Given the description of an element on the screen output the (x, y) to click on. 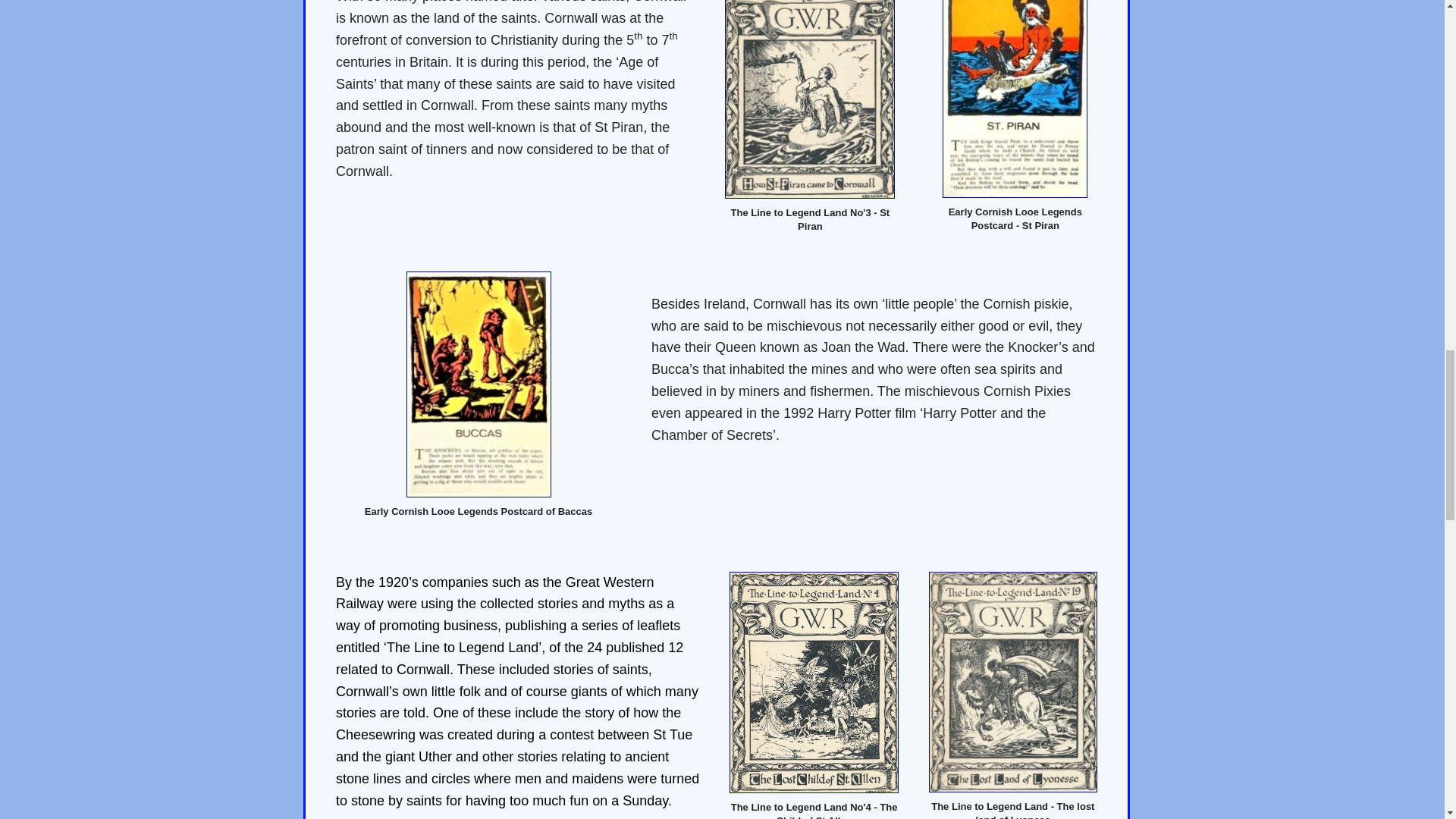
The Line to Legend Land No'3 - St Piran (810, 99)
EARLY CORNISH LOOE LEGENDS POSTCARDS - Buccas (478, 384)
The Line to Legend Land No'4 - The Child of St Allen (813, 682)
EARLY CORNISH LOOE LEGENDS POSTCARDS - St Piran (1014, 99)
The Line to Legend Land - The lost land of Lyoness (1012, 681)
